Given the description of an element on the screen output the (x, y) to click on. 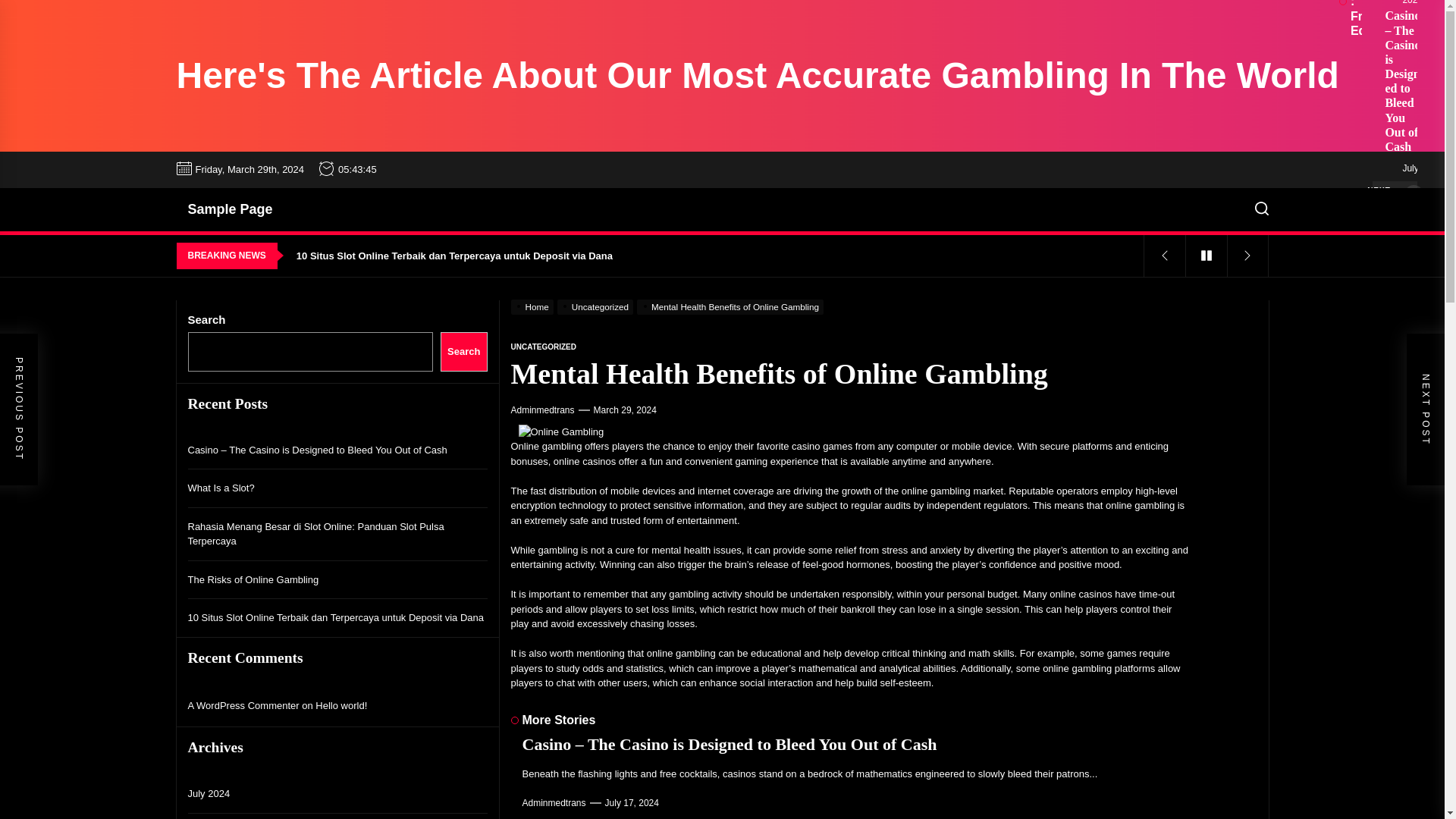
The Risks of Online Gambling (717, 224)
The Risks of Online Gambling (717, 224)
Sample Page (229, 209)
July 14, 2024 (1412, 2)
